Given the description of an element on the screen output the (x, y) to click on. 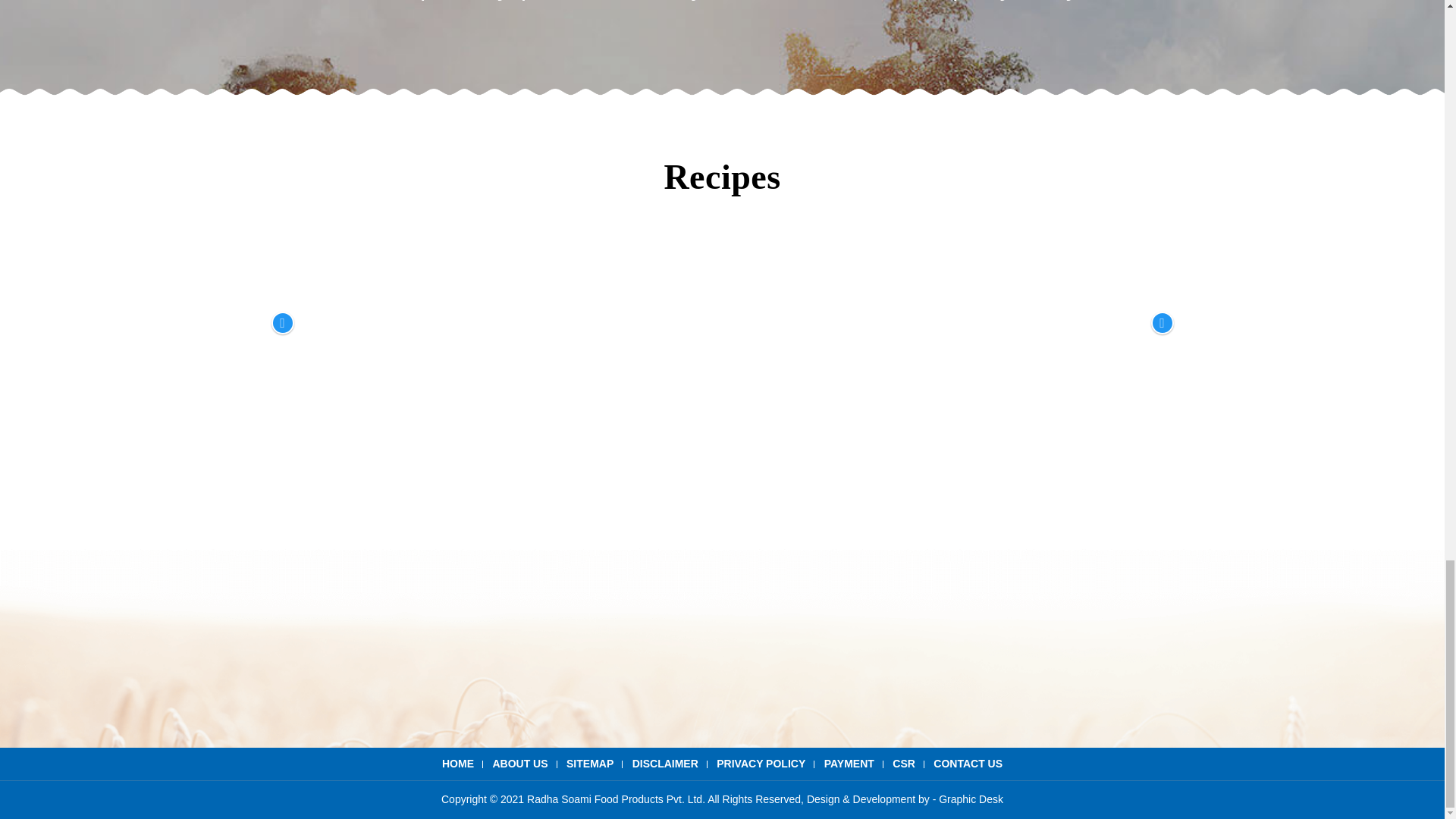
Sitemap (664, 763)
Payment (849, 763)
About Us (519, 763)
Privacy Policy (760, 763)
Sitemap (589, 763)
Contact Us (968, 763)
Home (458, 763)
